Given the description of an element on the screen output the (x, y) to click on. 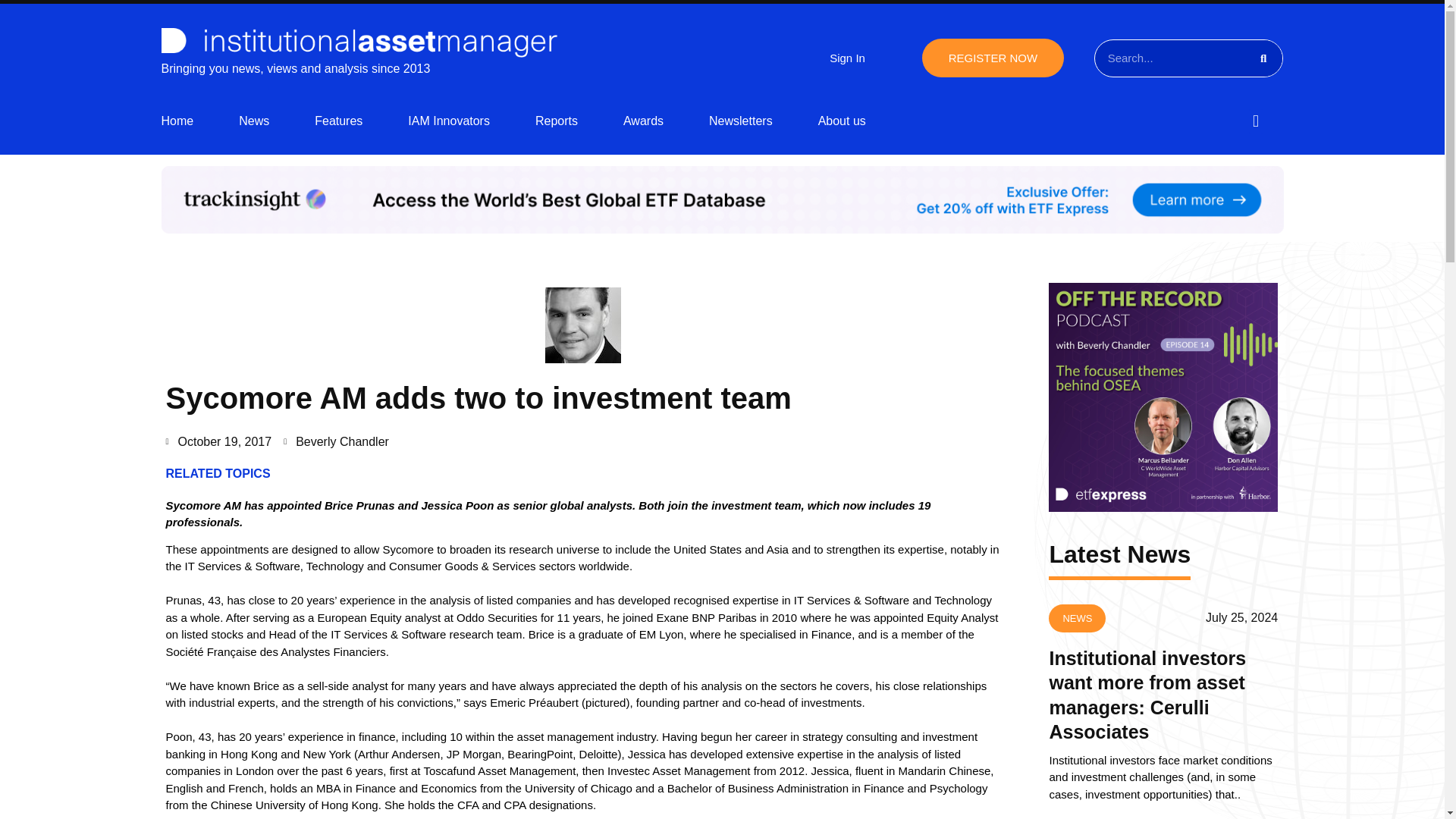
Home (176, 121)
Features (338, 121)
Newsletters (741, 121)
IAM Innovators (448, 121)
Sign In (847, 57)
REGISTER NOW (992, 57)
Reports (556, 121)
Awards (643, 121)
About us (842, 121)
